Given the description of an element on the screen output the (x, y) to click on. 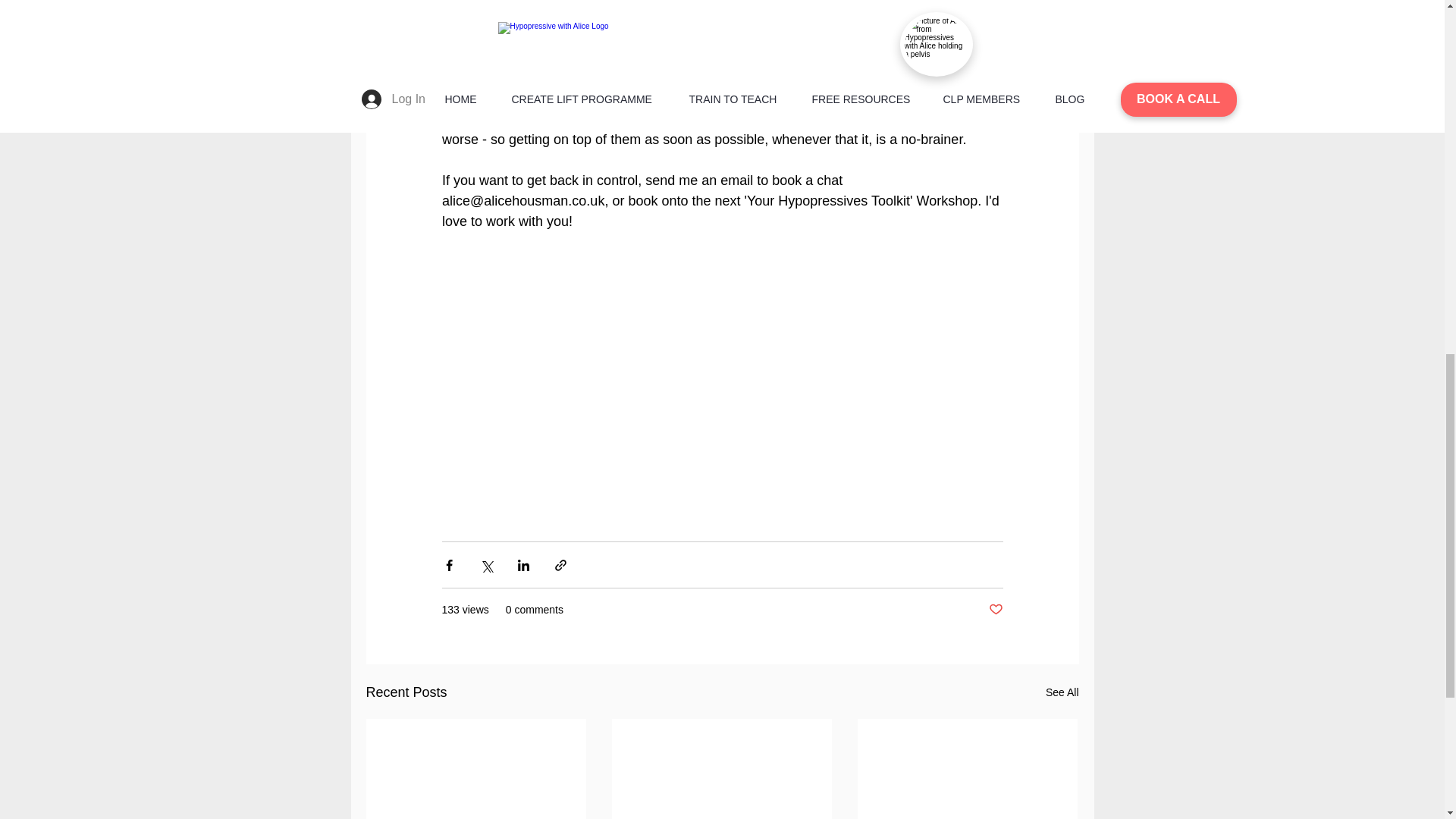
Post not marked as liked (995, 609)
See All (1061, 692)
